Given the description of an element on the screen output the (x, y) to click on. 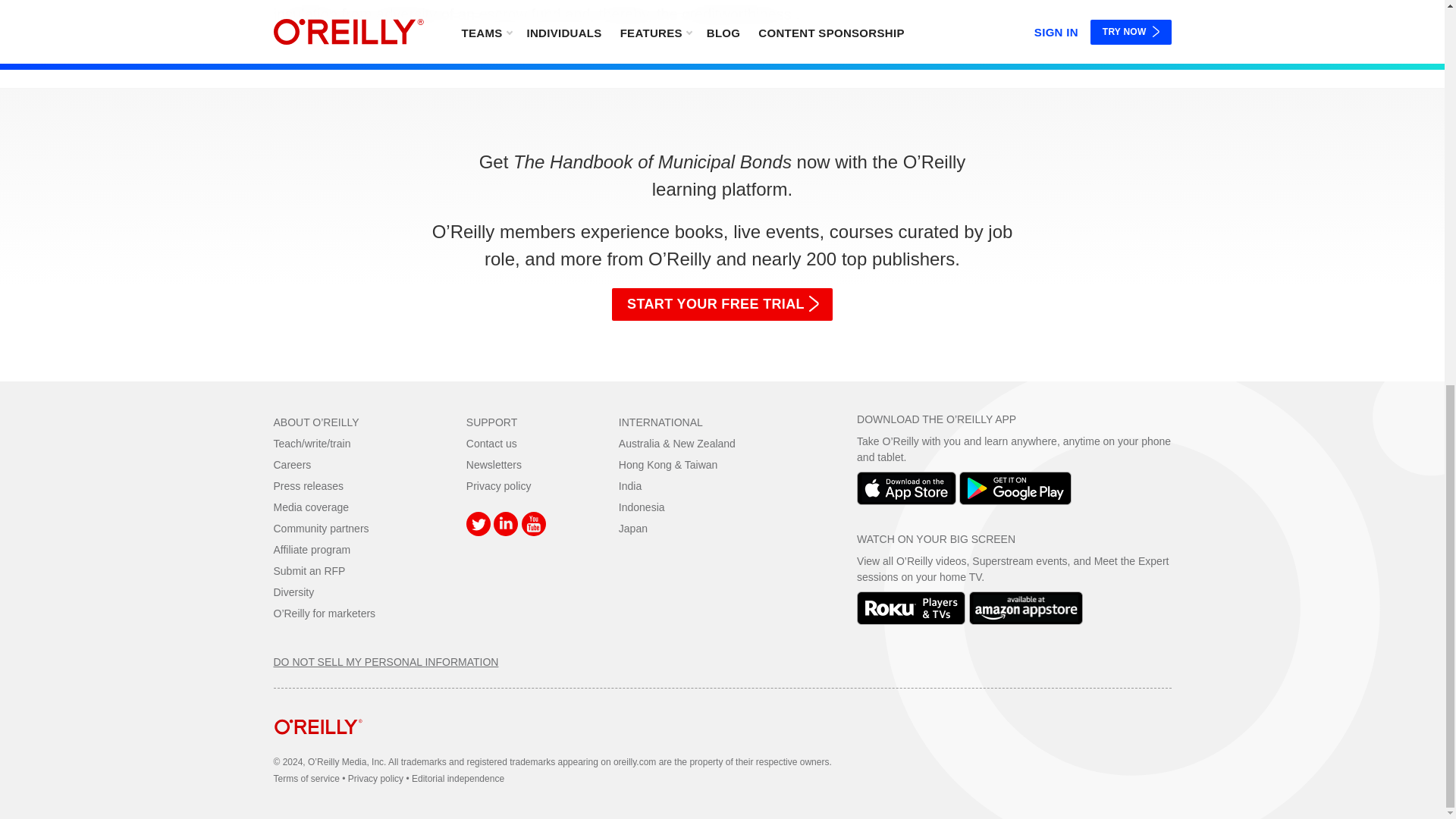
Media coverage (311, 507)
Affiliate program (311, 549)
Diversity (293, 592)
home page (317, 745)
Careers (292, 464)
Press releases (308, 485)
Privacy policy (498, 485)
SUPPORT (490, 422)
Newsletters (493, 464)
Contact us (490, 443)
